Given the description of an element on the screen output the (x, y) to click on. 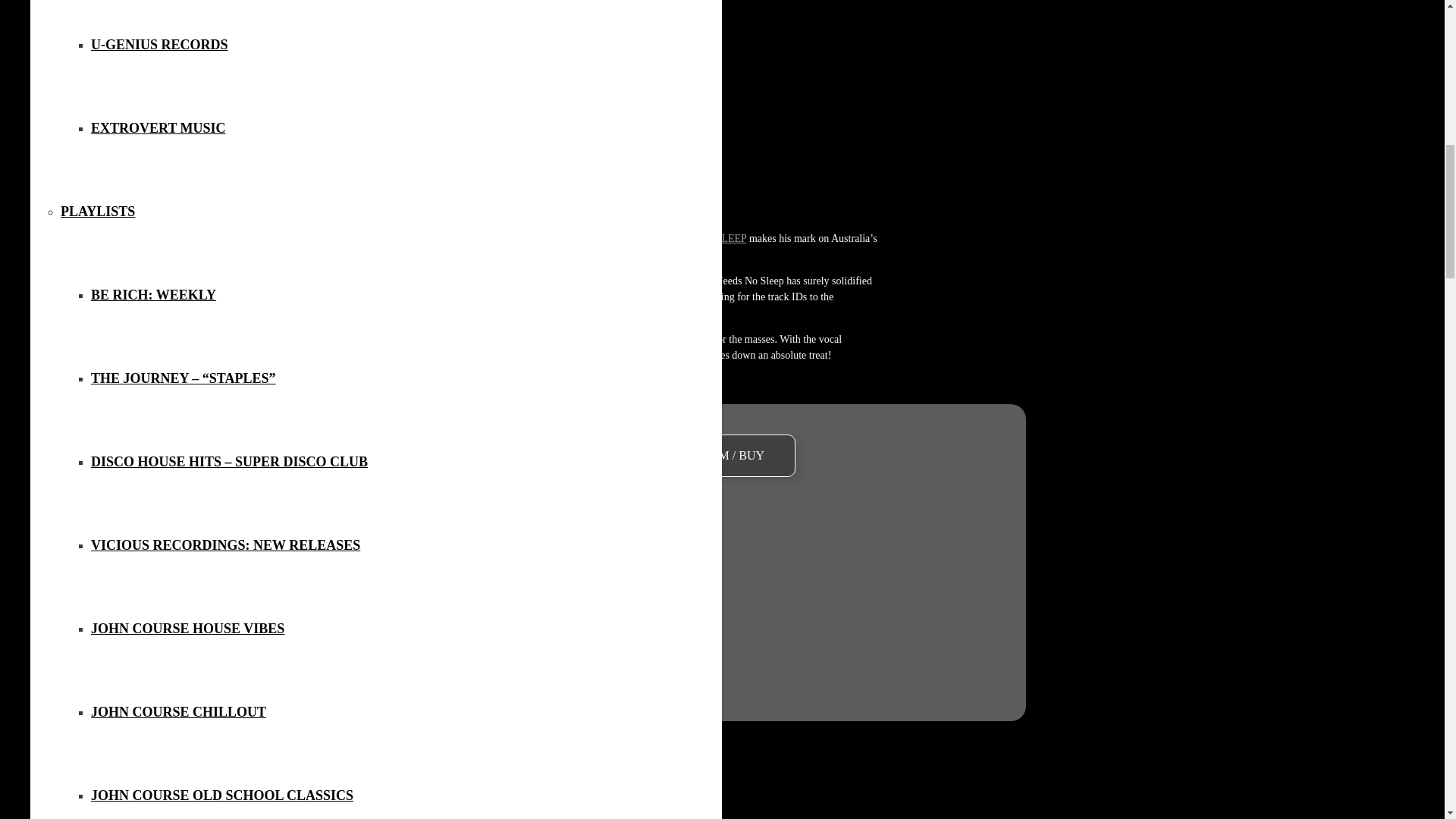
JOHN COURSE OLD SCHOOL CLASSICS (221, 795)
Spotify Embed: The Player (721, 576)
PLAYLISTS (98, 211)
VICIOUS RECORDINGS: NEW RELEASES (224, 544)
JOHN COURSE CHILLOUT (178, 711)
JOHN COURSE HOUSE VIBES (186, 628)
BE RICH: WEEKLY (152, 295)
U-GENIUS RECORDS (159, 44)
EXTROVERT MUSIC (157, 128)
